Given the description of an element on the screen output the (x, y) to click on. 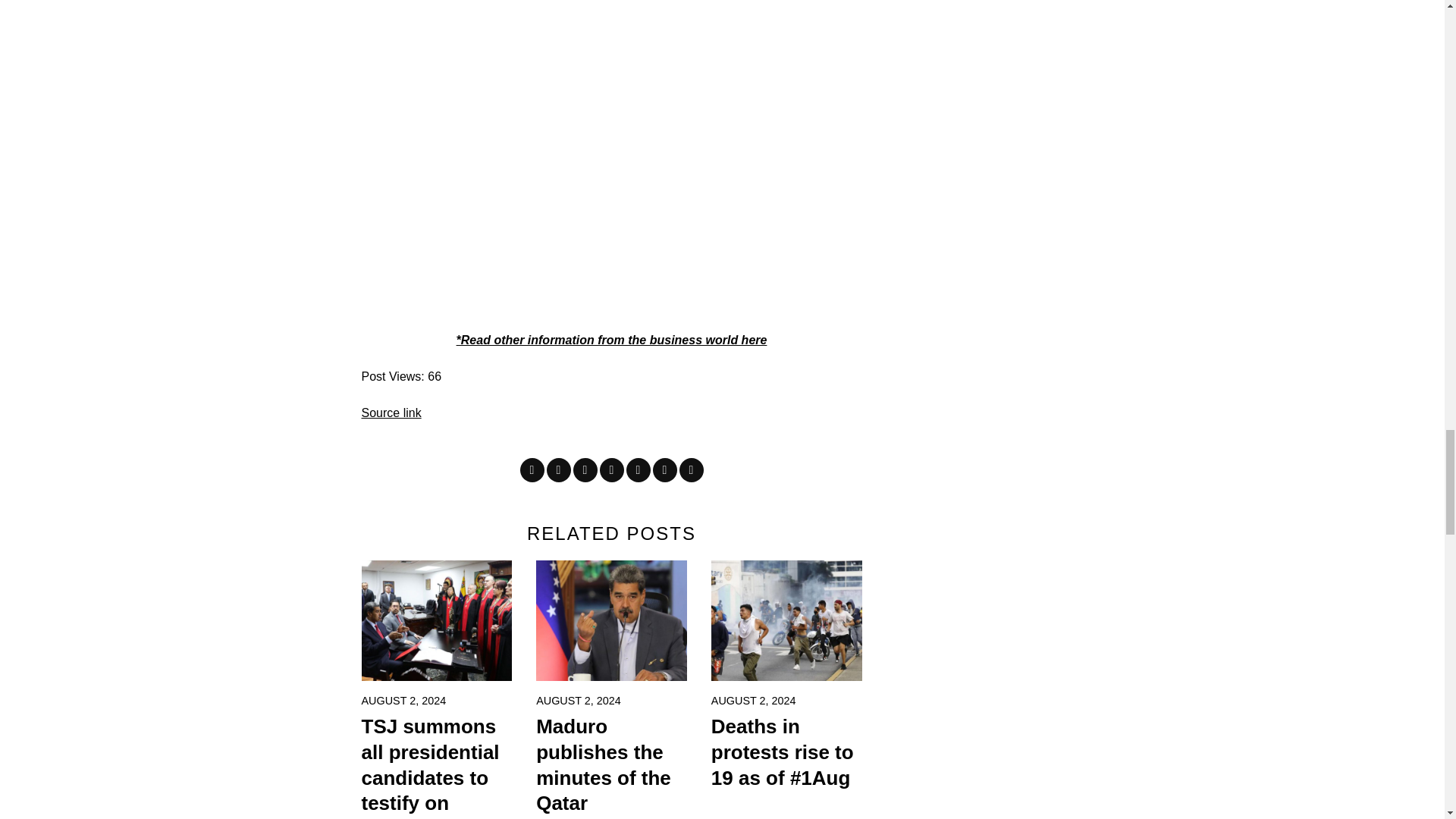
Source link (390, 412)
02 Aug, 2024 04:07:19 (753, 700)
02 Aug, 2024 08:06:23 (403, 700)
02 Aug, 2024 06:04:21 (578, 700)
